Given the description of an element on the screen output the (x, y) to click on. 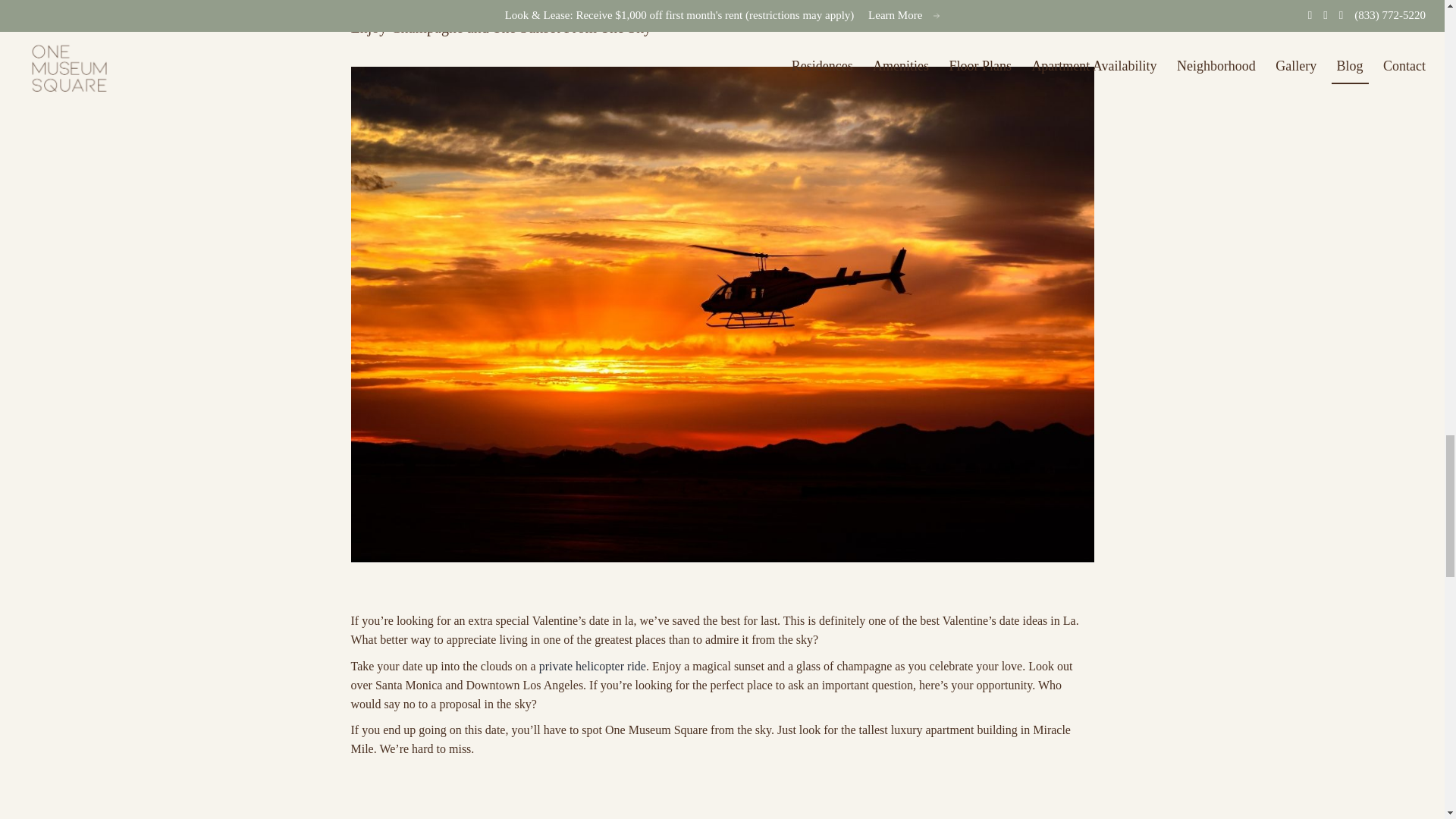
private helicopter ride (592, 666)
